Given the description of an element on the screen output the (x, y) to click on. 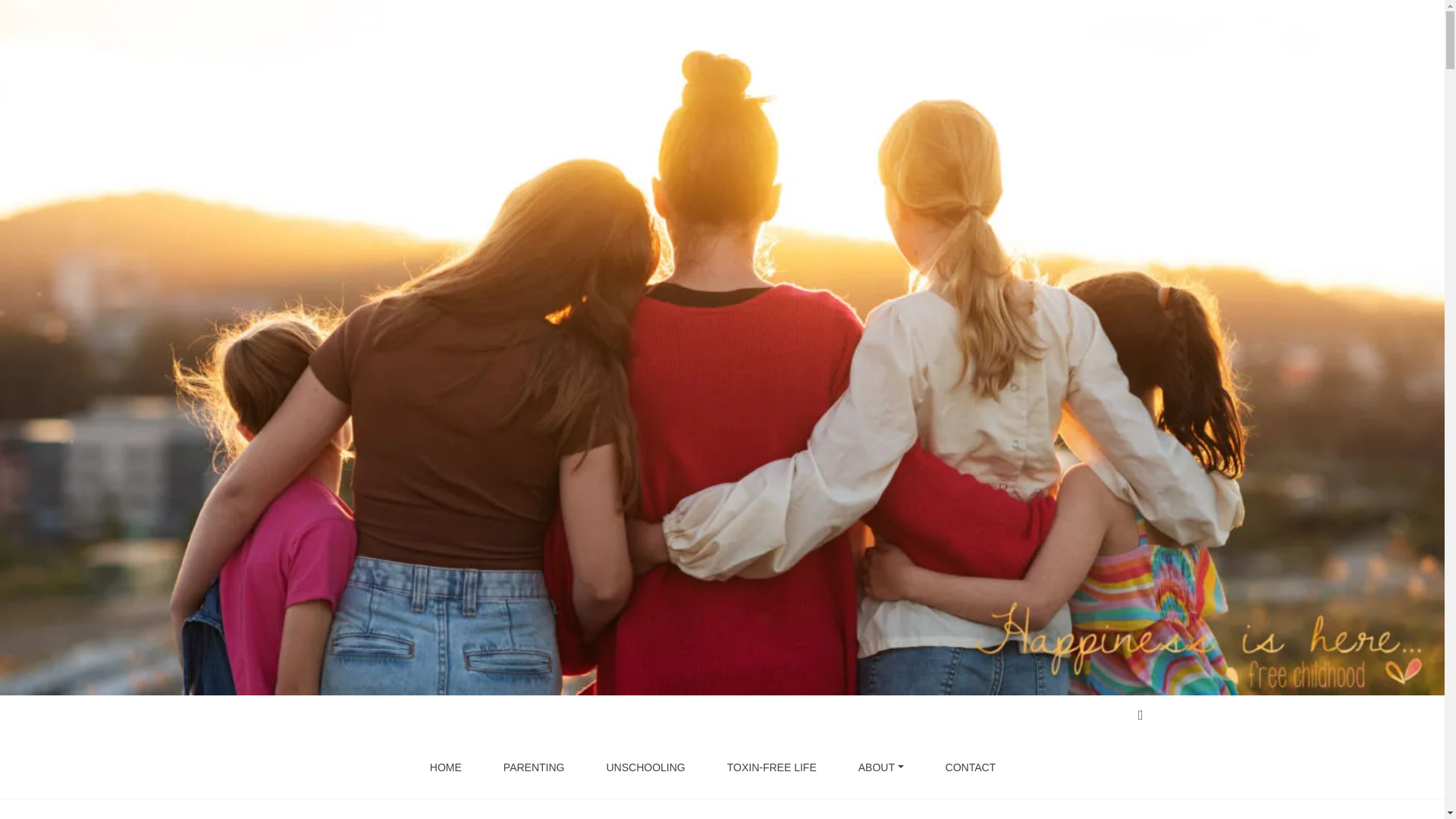
ABOUT (881, 767)
CONTACT (970, 767)
UNSCHOOLING (644, 767)
ABOUT (881, 767)
PARENTING (534, 767)
TOXIN-FREE LIFE (772, 767)
CONTACT (970, 767)
PARENTING (534, 767)
HOME (446, 767)
UNSCHOOLING (644, 767)
TOXIN-FREE LIFE (772, 767)
HOME (446, 767)
Happiness is here (407, 79)
